Given the description of an element on the screen output the (x, y) to click on. 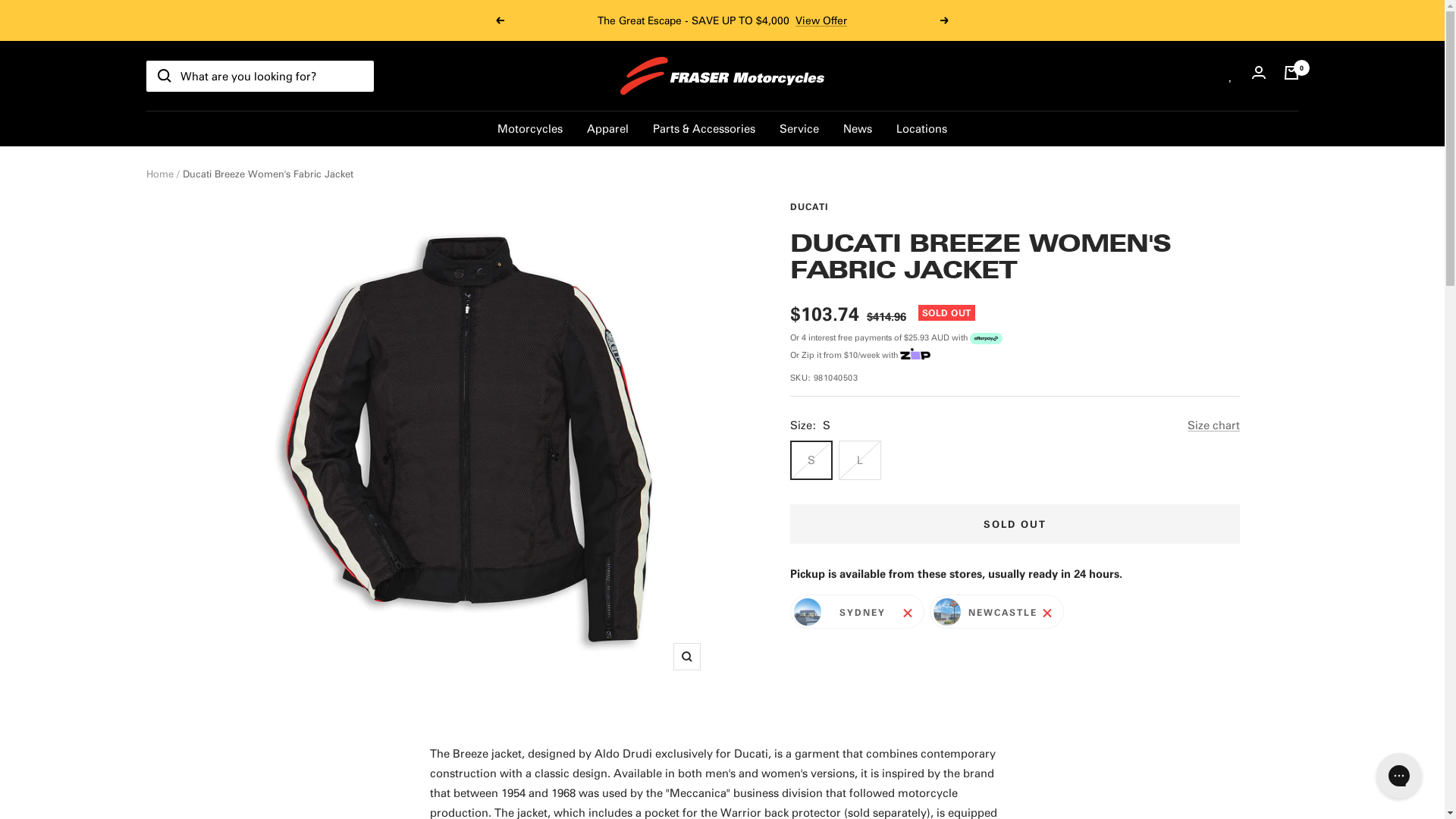
Size chart Element type: text (1213, 424)
Apparel Element type: text (607, 128)
Zoom Element type: text (686, 656)
Motorcycles Element type: text (529, 128)
DUCATI Element type: text (809, 206)
Fraser Motorcycles Element type: text (721, 75)
Home Element type: text (158, 172)
NEWCASTLE Element type: text (996, 611)
Service Element type: text (799, 128)
SOLD OUT Element type: text (1015, 523)
News Element type: text (857, 128)
0 Element type: text (1290, 75)
1300 37 27 37 Element type: text (717, 19)
Previous Element type: text (499, 20)
Locations Element type: text (921, 128)
Parts & Accessories Element type: text (703, 128)
SYDNEY Element type: text (857, 611)
Gorgias live chat messenger Element type: hover (1398, 775)
Next Element type: text (944, 20)
See Locations Element type: text (792, 20)
